Given the description of an element on the screen output the (x, y) to click on. 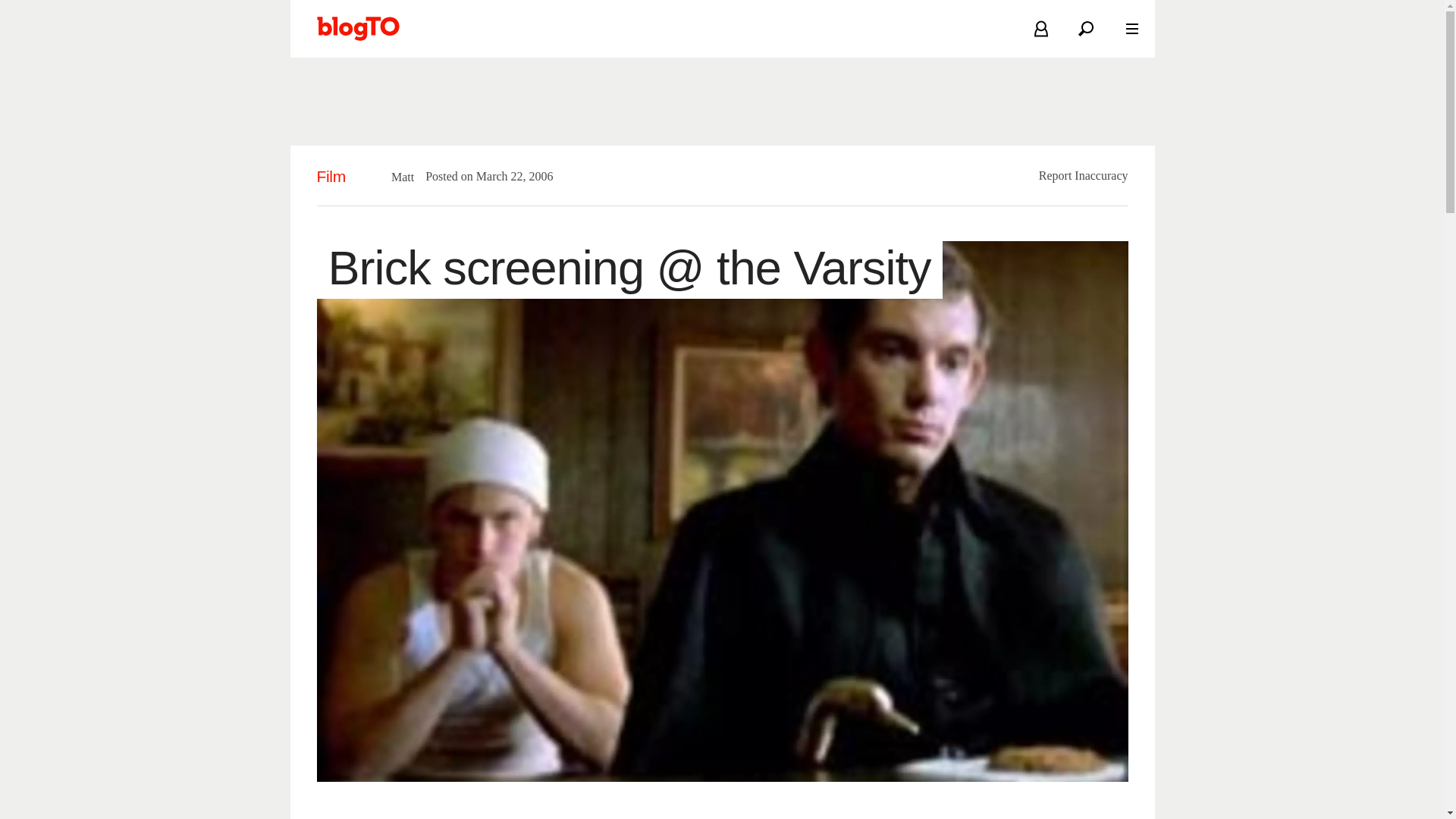
2006-03-22T09:30:15 (507, 175)
